Given the description of an element on the screen output the (x, y) to click on. 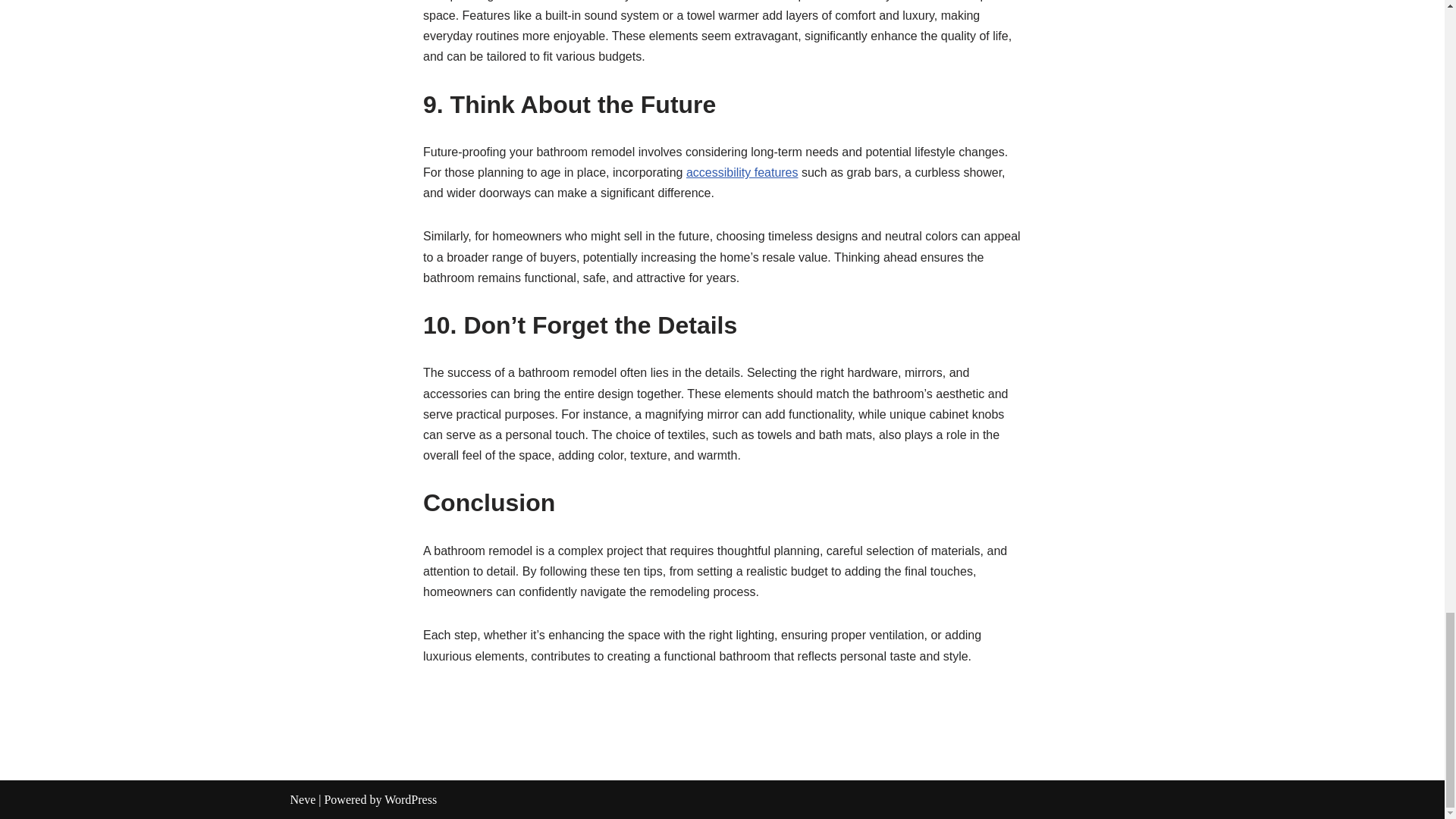
accessibility features (741, 172)
Neve (302, 799)
WordPress (410, 799)
